Given the description of an element on the screen output the (x, y) to click on. 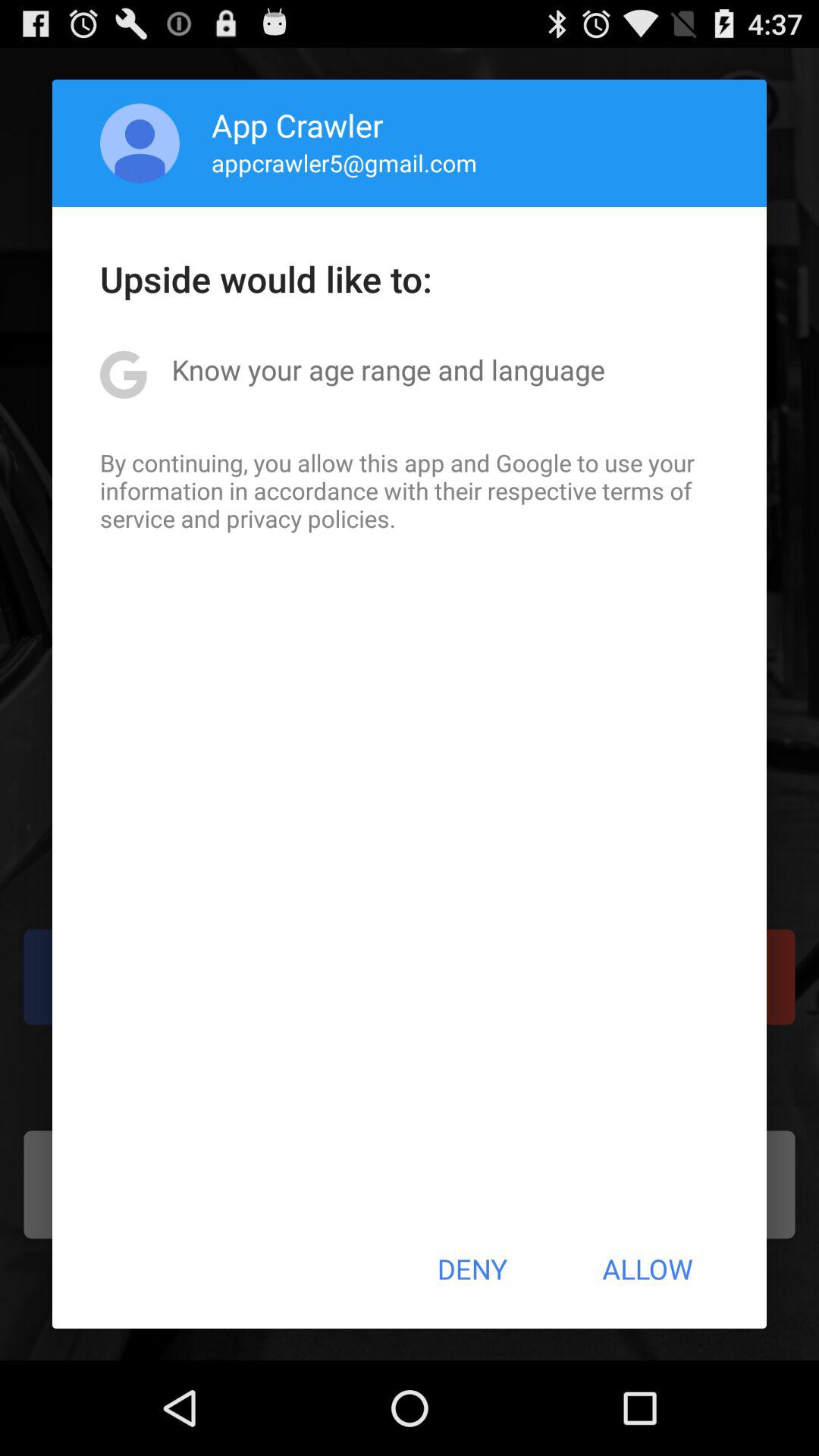
click item at the bottom (471, 1268)
